Given the description of an element on the screen output the (x, y) to click on. 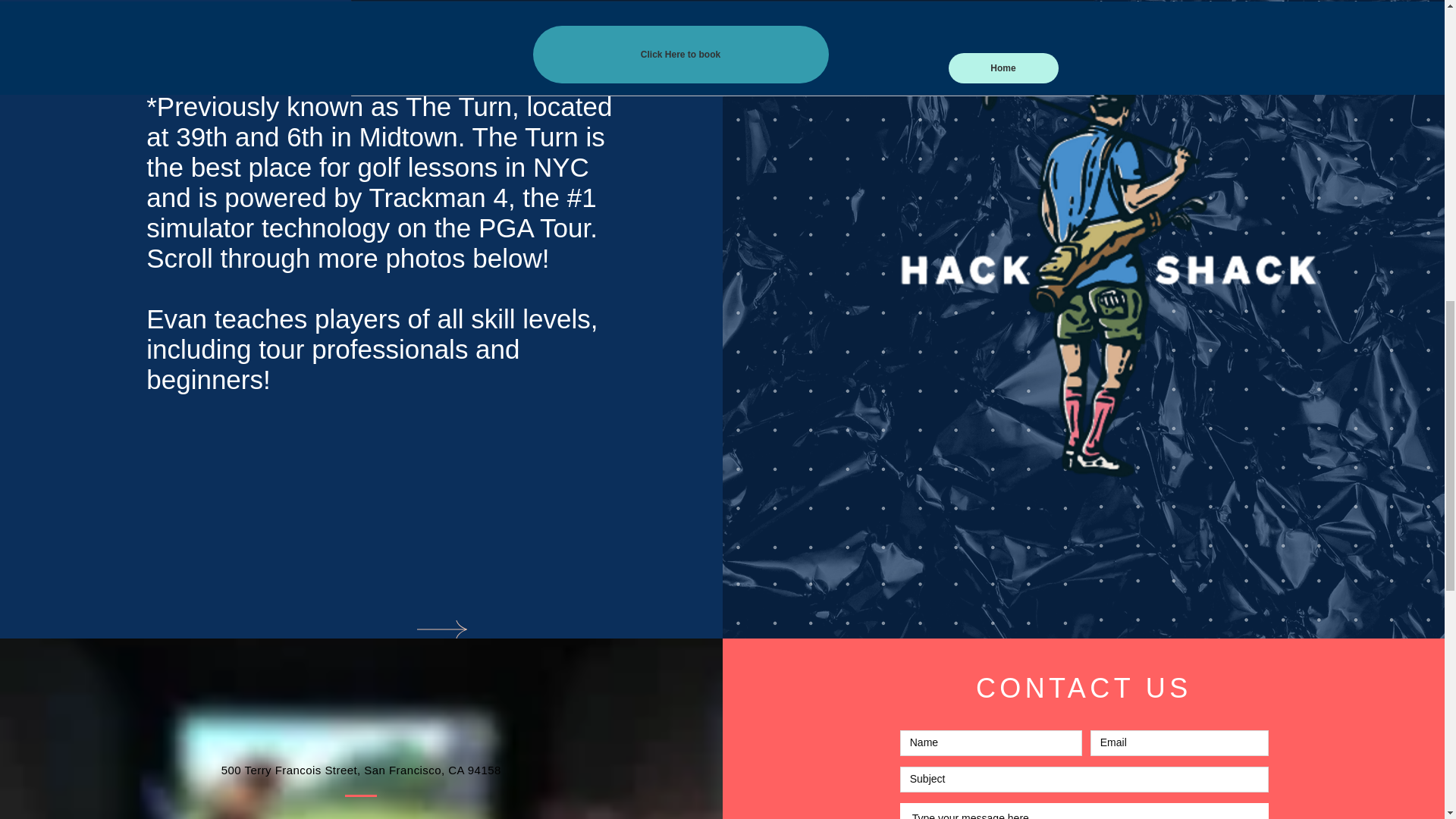
w (531, 257)
! (545, 257)
